Given the description of an element on the screen output the (x, y) to click on. 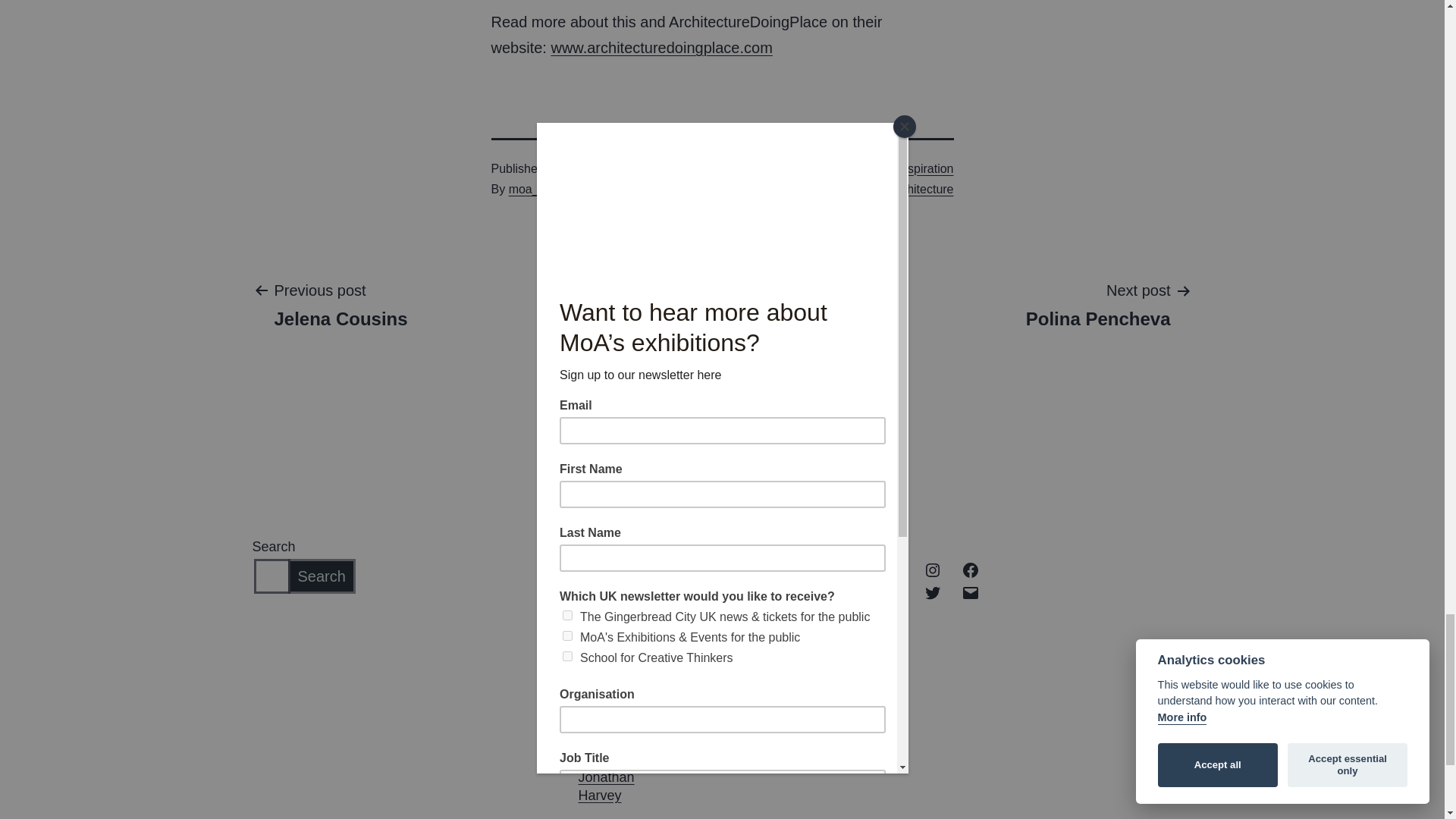
Instagram (1098, 303)
Email (933, 569)
Facebook (971, 591)
Twitter (340, 303)
www.architecturedoingplace.com (971, 569)
Search (933, 591)
Stories and inspiration (660, 47)
